Given the description of an element on the screen output the (x, y) to click on. 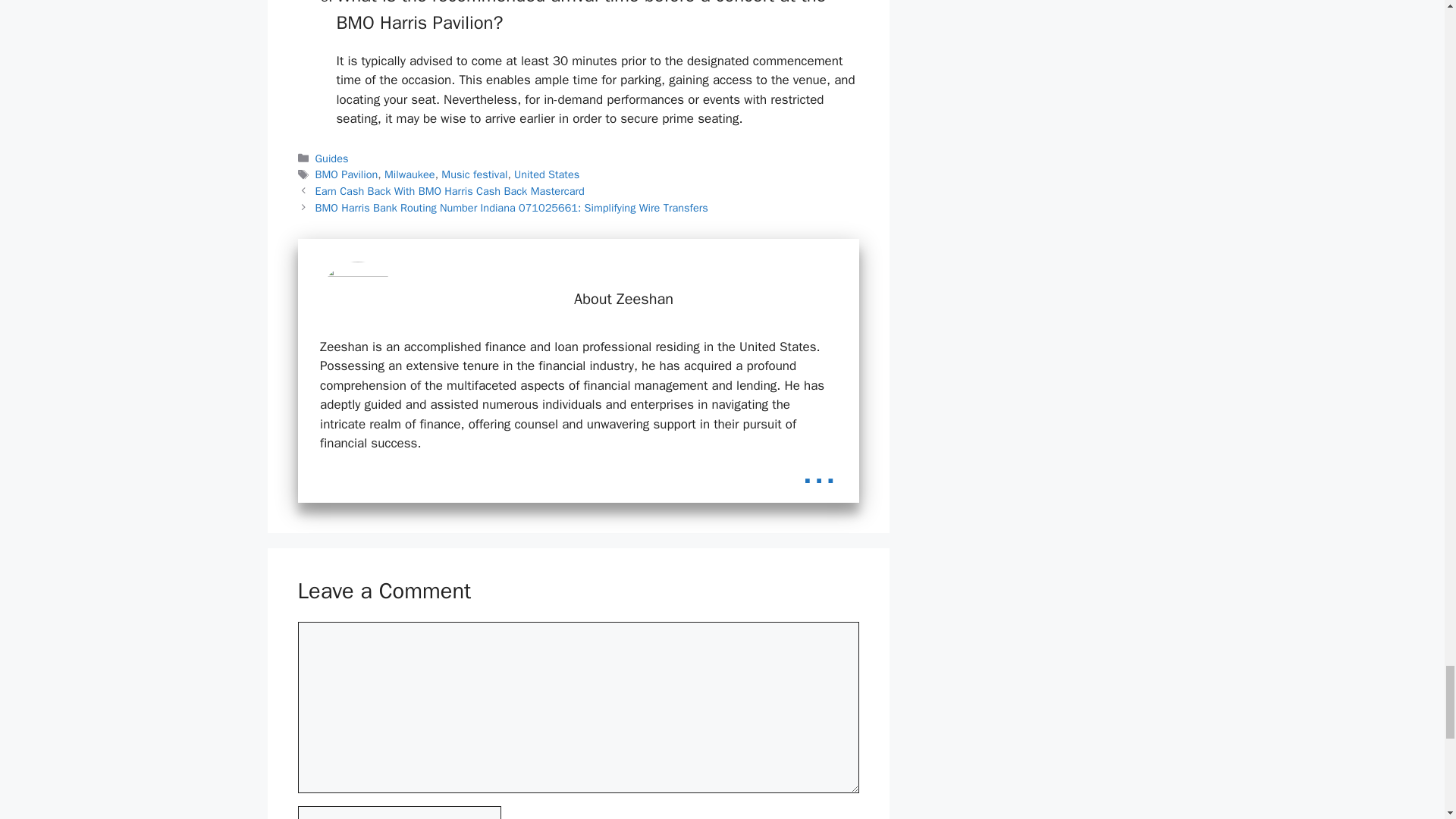
Read more (818, 470)
